Given the description of an element on the screen output the (x, y) to click on. 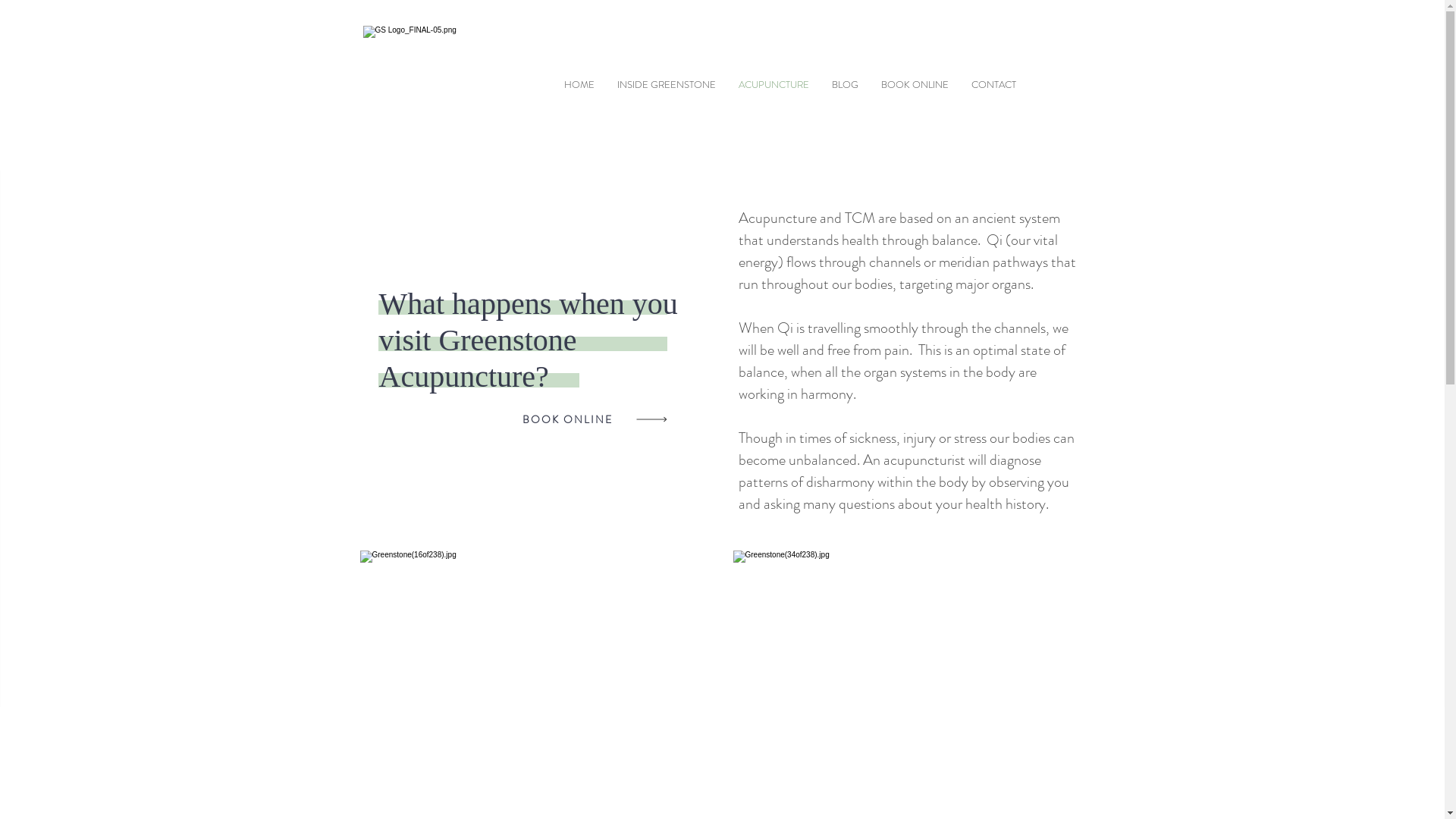
BOOK ONLINE Element type: text (914, 84)
BOOK ONLINE Element type: text (566, 419)
ACUPUNCTURE Element type: text (772, 84)
BLOG Element type: text (844, 84)
CONTACT Element type: text (993, 84)
INSIDE GREENSTONE Element type: text (665, 84)
HOME Element type: text (578, 84)
